Given the description of an element on the screen output the (x, y) to click on. 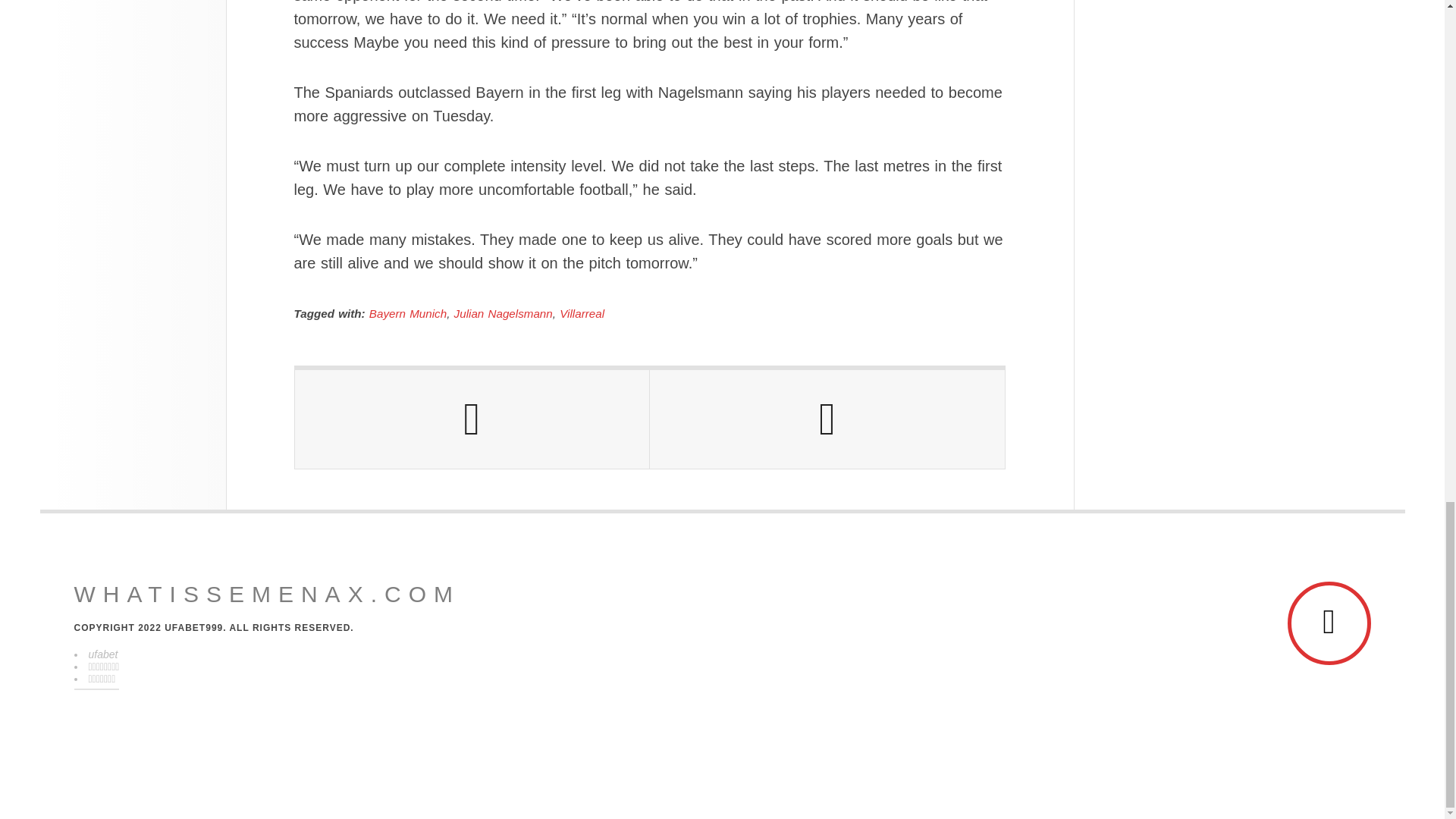
Previous Post (471, 419)
Next Post (826, 419)
Julian Nagelsmann (503, 313)
WHATISSEMENAX.COM (267, 594)
Bayern Munich (407, 313)
Villarreal (581, 313)
whatissemenax.com (267, 594)
ufabet (102, 654)
